Given the description of an element on the screen output the (x, y) to click on. 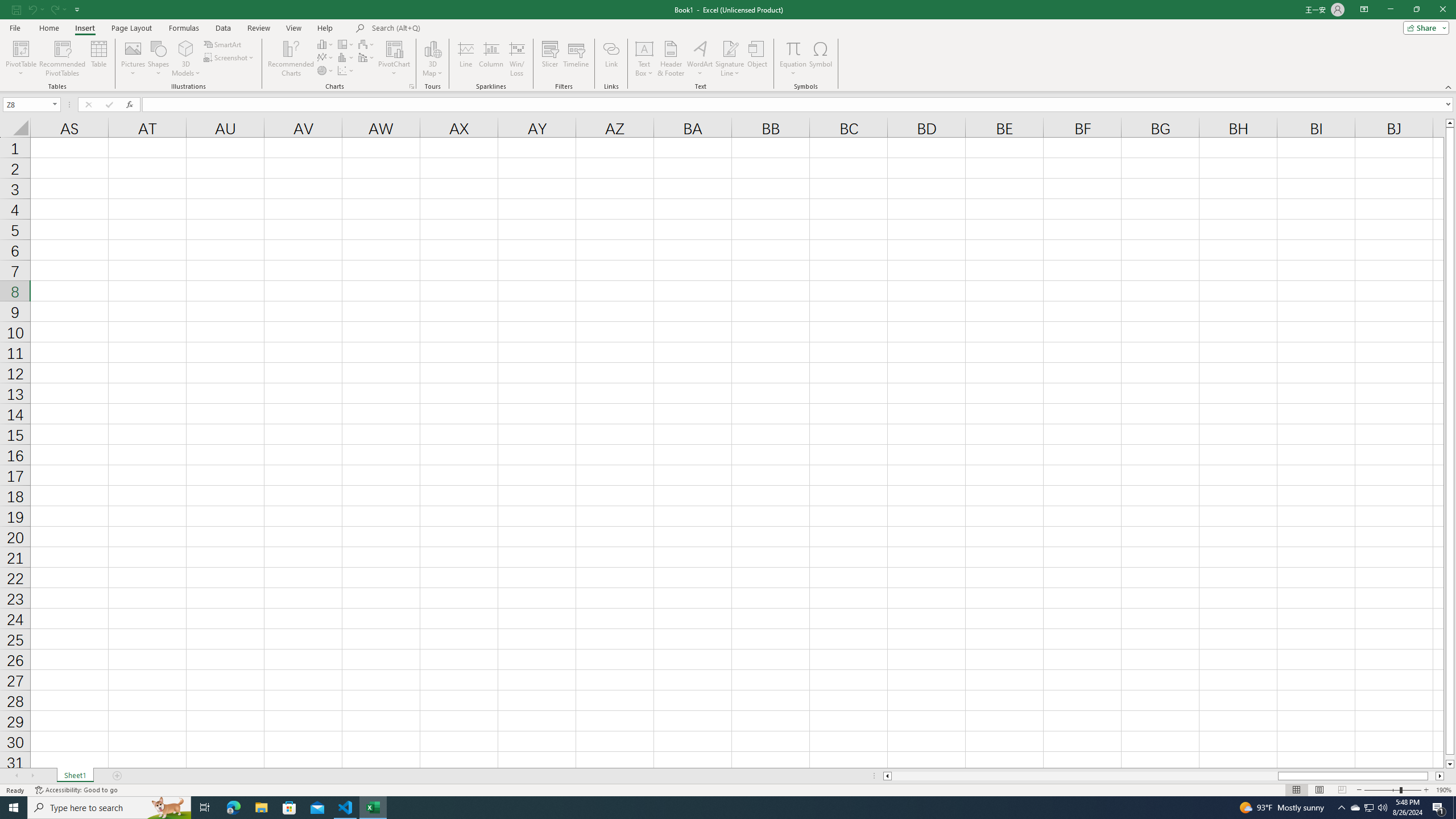
Insert Pie or Doughnut Chart (325, 69)
Link (611, 58)
Collapse the Ribbon (1448, 86)
Pictures (133, 58)
PivotChart (394, 48)
Header & Footer... (670, 58)
Restore Down (1416, 9)
Accessibility Checker Accessibility: Good to go (76, 790)
Class: NetUIScrollBar (1163, 775)
Column left (886, 775)
Formulas (184, 28)
WordArt (699, 58)
Zoom In (1426, 790)
